Given the description of an element on the screen output the (x, y) to click on. 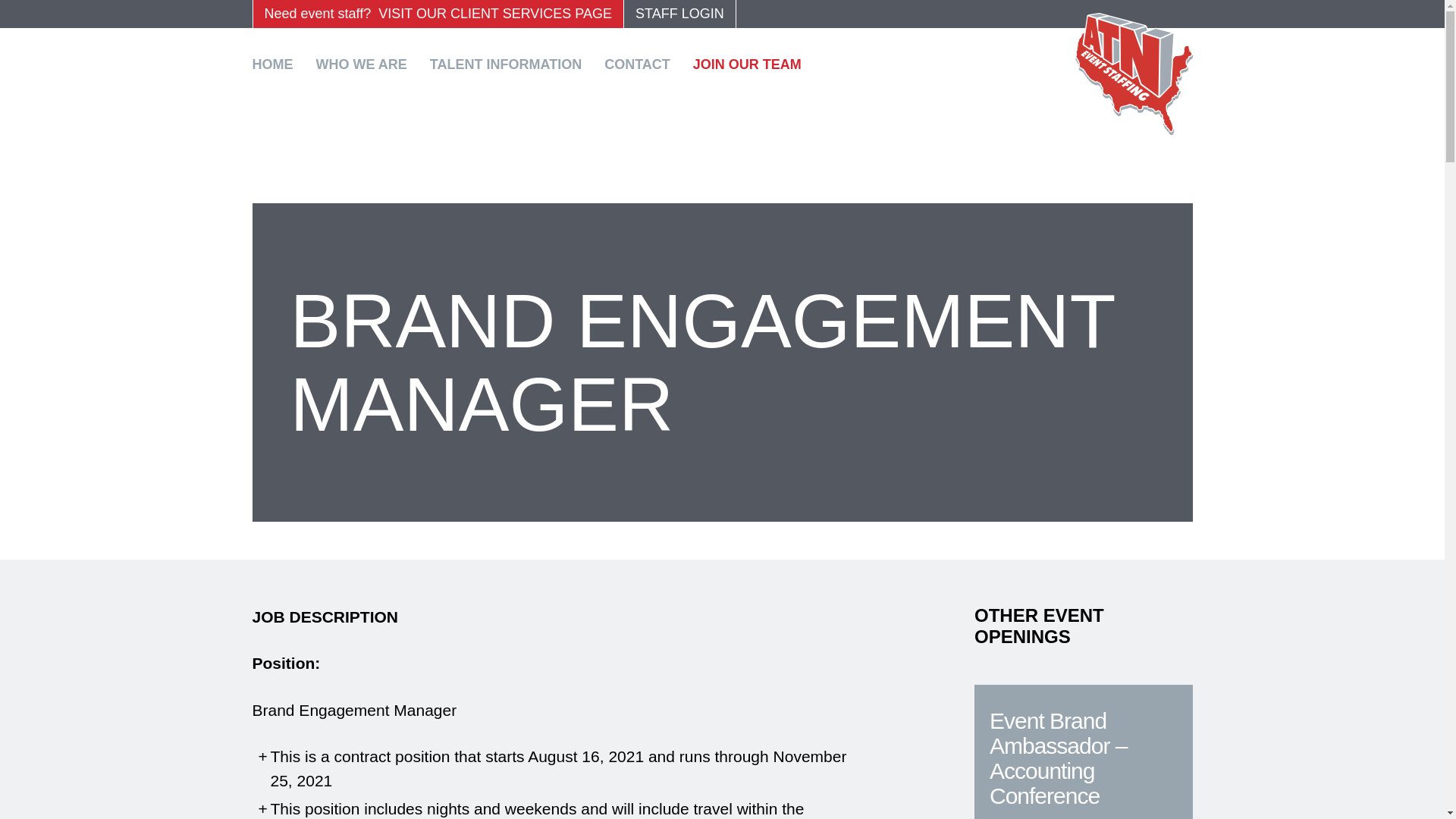
JOIN OUR TEAM (752, 64)
HOME (277, 64)
TALENT INFORMATION (510, 64)
STAFF LOGIN (679, 13)
CONTACT (642, 64)
WHO WE ARE (366, 64)
Need event staff? VISIT OUR CLIENT SERVICES PAGE (437, 13)
